Given the description of an element on the screen output the (x, y) to click on. 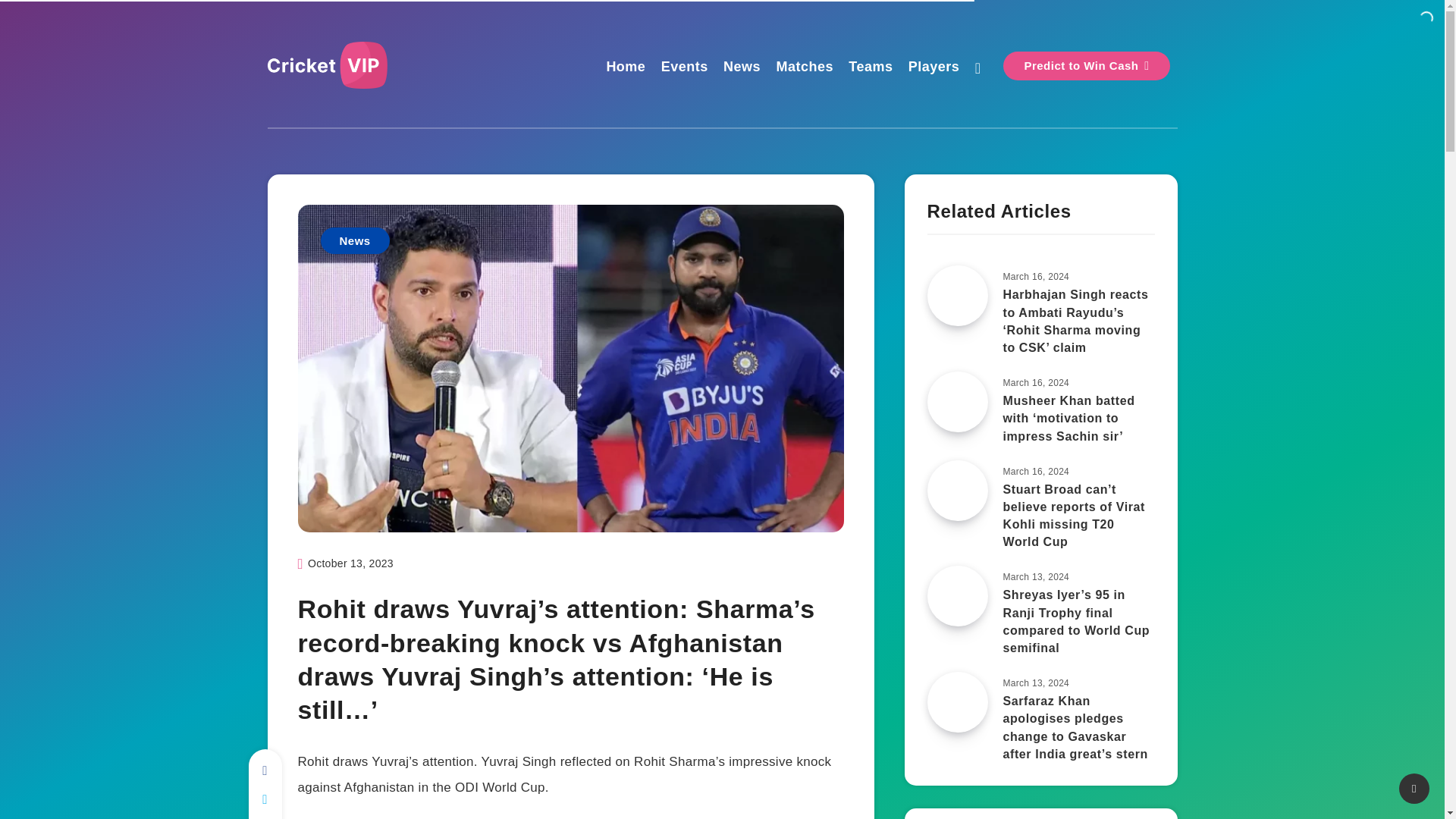
Events (684, 68)
News (354, 240)
News (741, 68)
Teams (870, 68)
Predict to Win Cash (1086, 65)
Matches (804, 68)
Home (625, 68)
Players (933, 68)
